Given the description of an element on the screen output the (x, y) to click on. 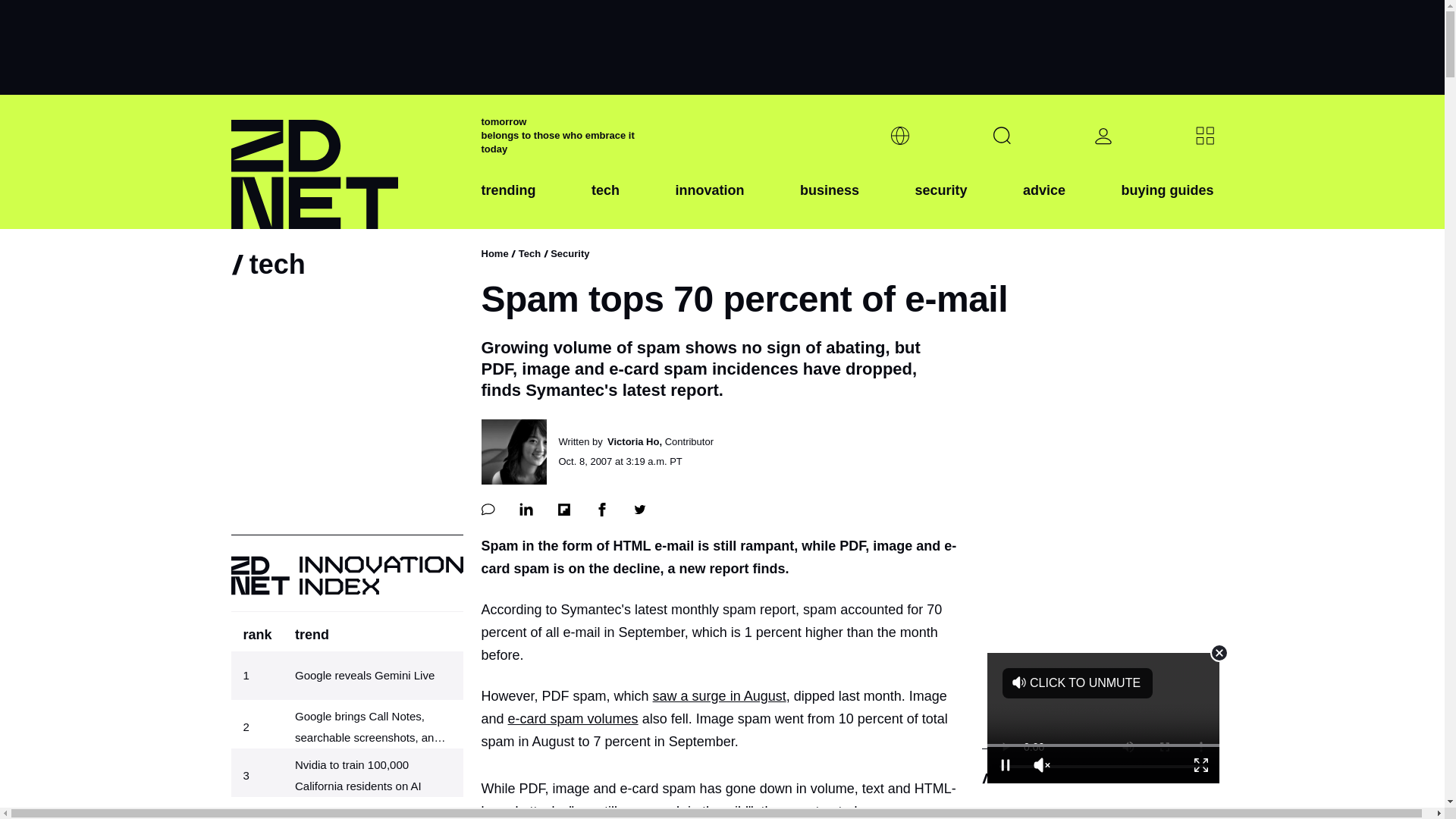
Unmute (1041, 764)
PDF stock spam wreaks havoc -- Tuesday, Aug. 14, 2007 (719, 695)
Advertisement (1103, 717)
Spam spike from Chinese domains -- Monday, Aug. 13, 2007 (573, 718)
trending (507, 202)
ZDNET (346, 162)
Pause (1005, 764)
